Given the description of an element on the screen output the (x, y) to click on. 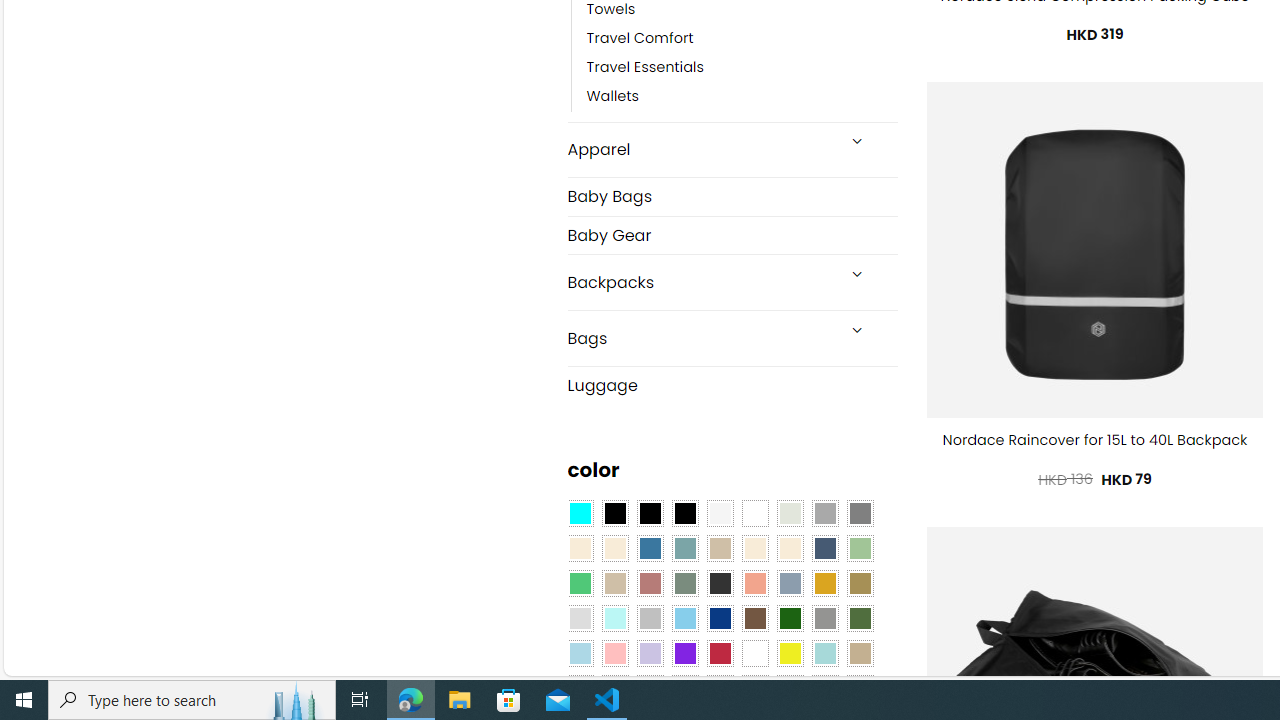
Dusty Blue (789, 583)
Light Purple (650, 653)
Blue Sage (684, 548)
Black-Brown (684, 514)
Blue (650, 548)
Luggage (732, 384)
Emerald Green (579, 583)
Bags (700, 337)
Light Green (859, 548)
Brown (755, 619)
Charcoal (719, 583)
Baby Bags (732, 196)
Travel Essentials (645, 67)
Travel Comfort (639, 38)
All Gray (859, 514)
